Given the description of an element on the screen output the (x, y) to click on. 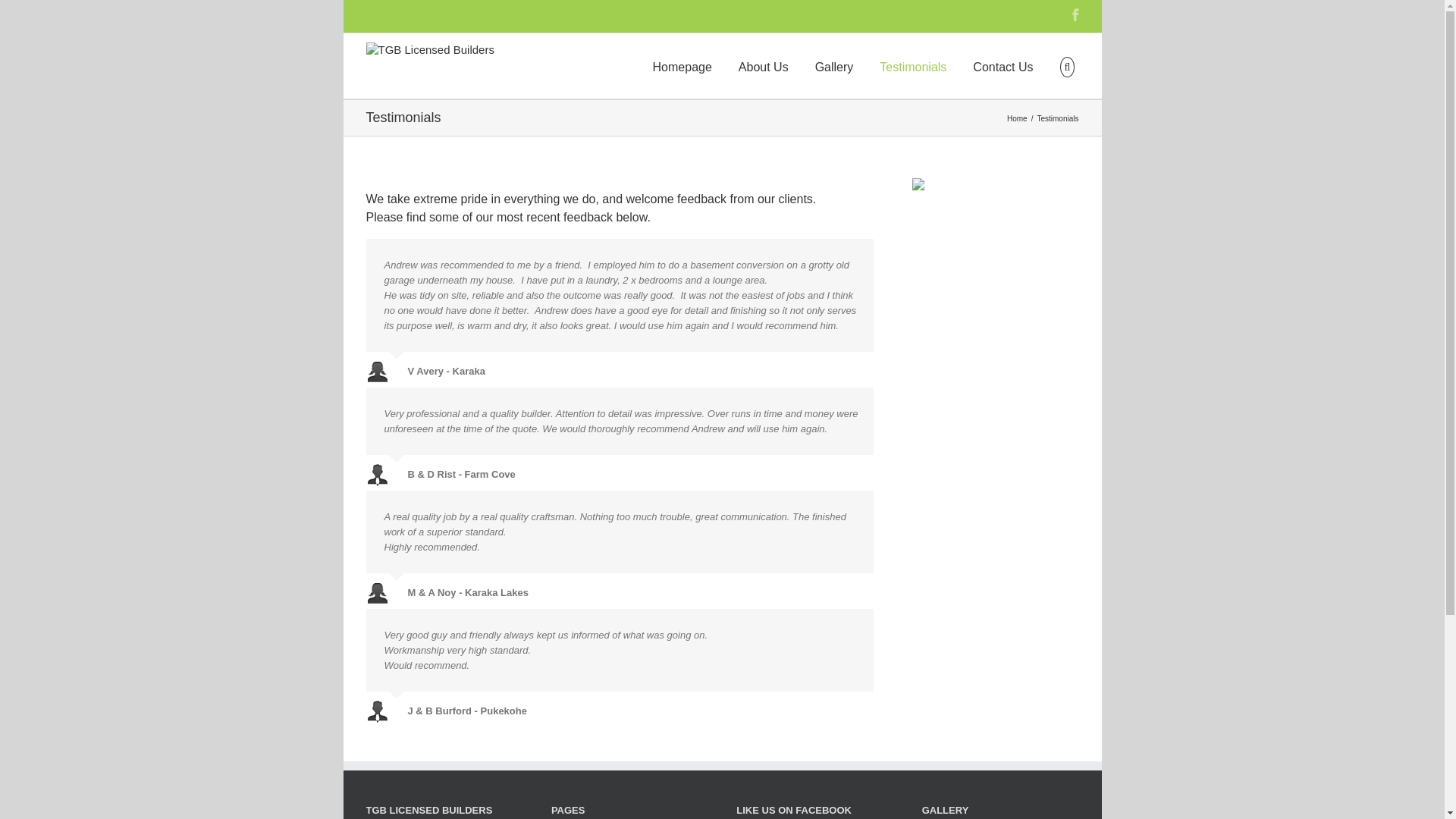
Homepage Element type: text (682, 65)
Home Element type: text (1019, 117)
Facebook Element type: text (1075, 14)
Contact Us Element type: text (1002, 65)
Gallery Element type: text (834, 65)
About Us Element type: text (763, 65)
Testimonials Element type: text (912, 65)
